Given the description of an element on the screen output the (x, y) to click on. 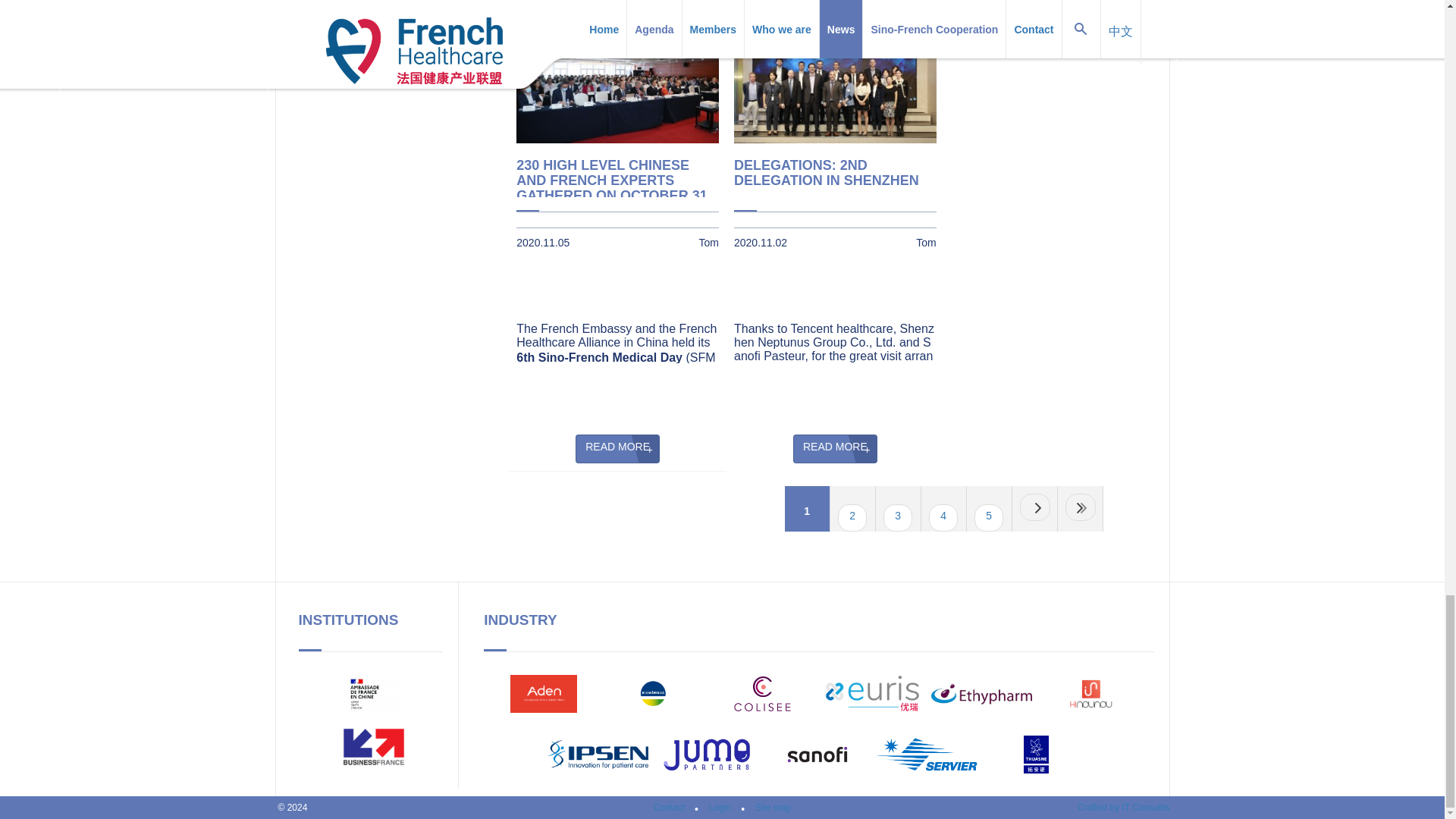
Go to next page (1034, 506)
Go to page 3 (897, 517)
Drupal agency in Shanghai (1123, 807)
Go to page 2 (852, 517)
Go to page 5 (988, 517)
Go to last page (1080, 506)
Go to page 4 (943, 517)
